Given the description of an element on the screen output the (x, y) to click on. 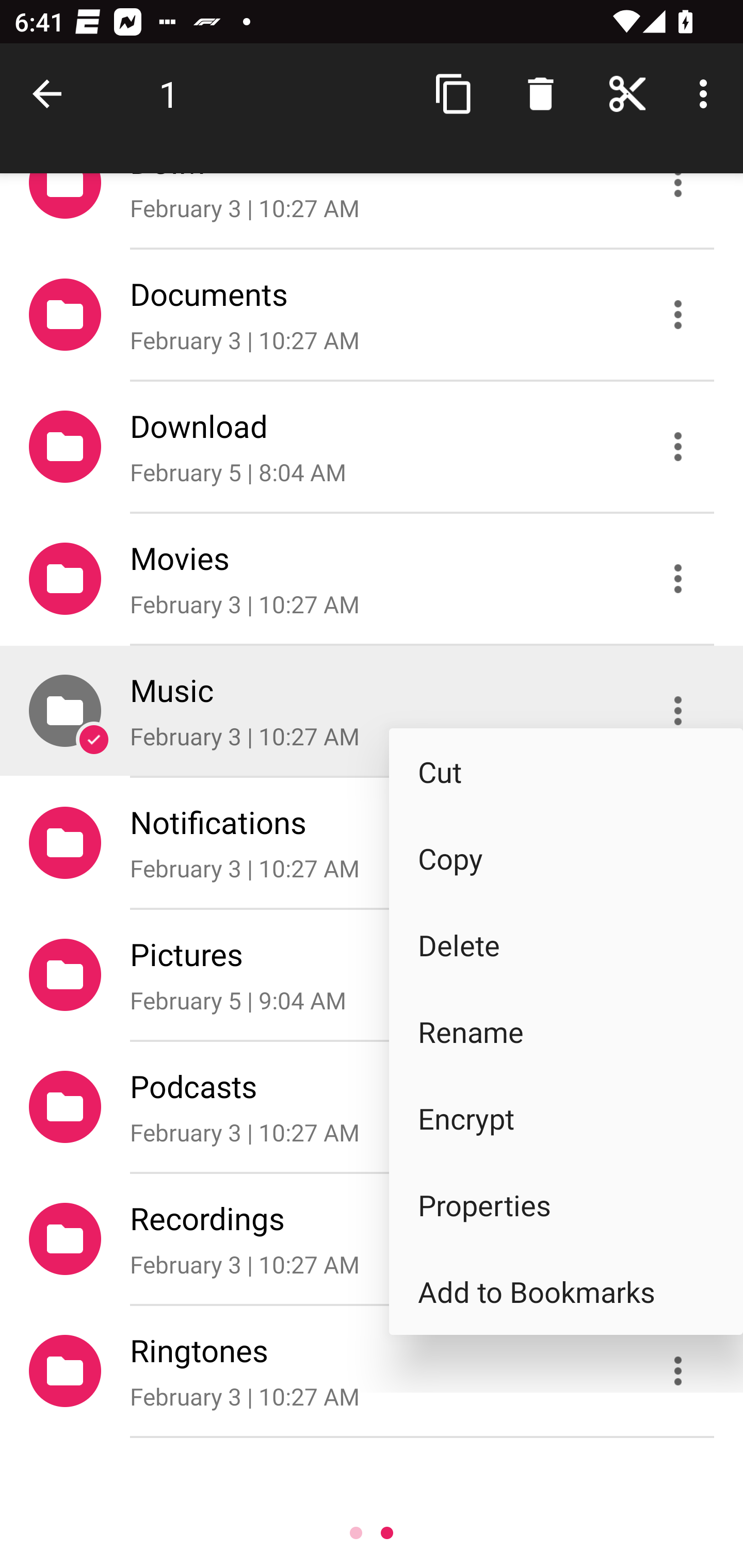
Cut (566, 771)
Copy (566, 858)
Delete (566, 944)
Rename (566, 1031)
Encrypt (566, 1118)
Properties (566, 1204)
Add to Bookmarks (566, 1291)
